Given the description of an element on the screen output the (x, y) to click on. 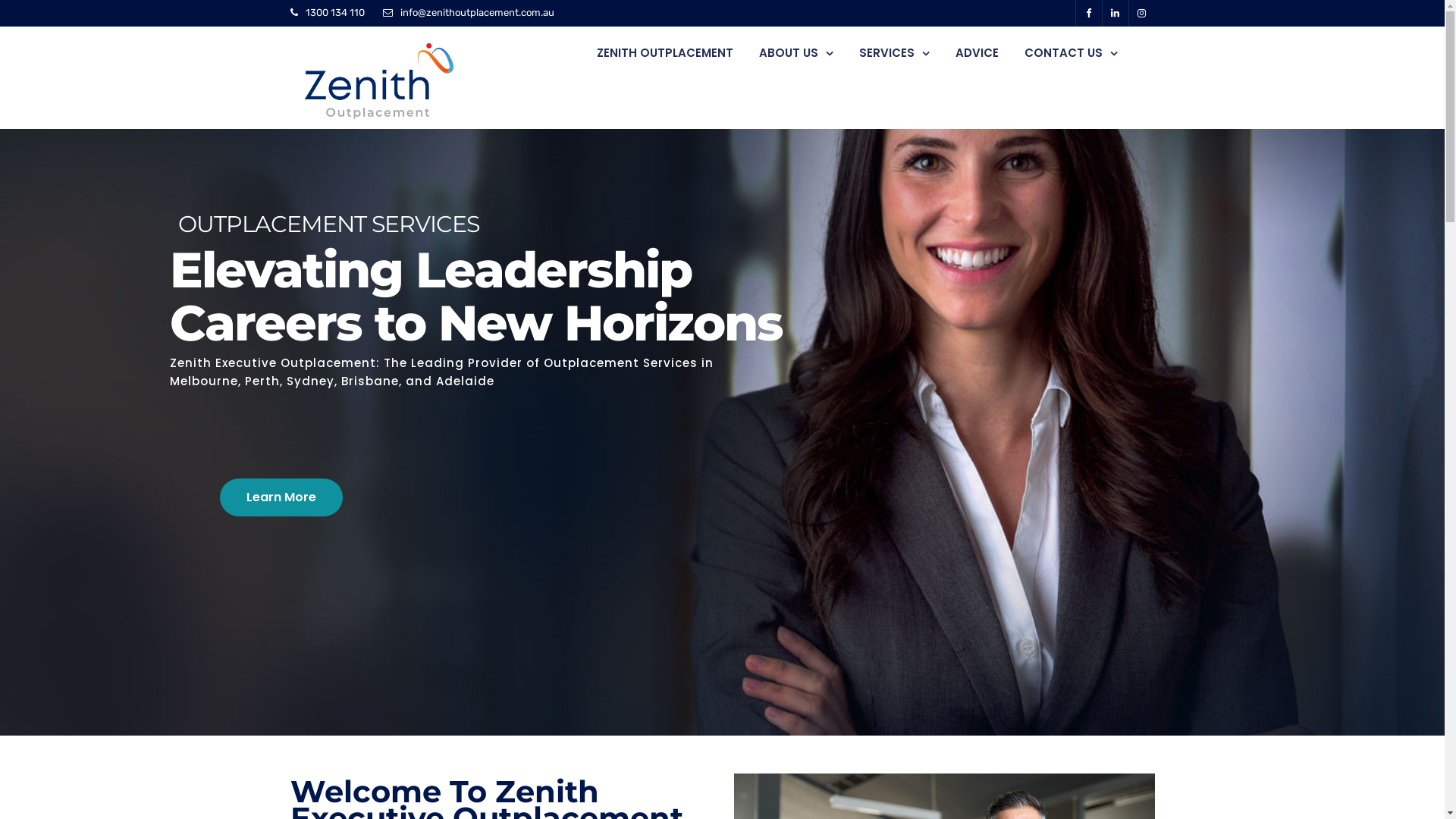
ABOUT US Element type: text (795, 52)
CONTACT US Element type: text (1070, 52)
ZENITH OUTPLACEMENT Element type: text (664, 52)
SERVICES Element type: text (893, 52)
1300 134 110 Element type: text (334, 12)
ADVICE Element type: text (976, 52)
info@zenithoutplacement.com.au Element type: text (477, 12)
